Given the description of an element on the screen output the (x, y) to click on. 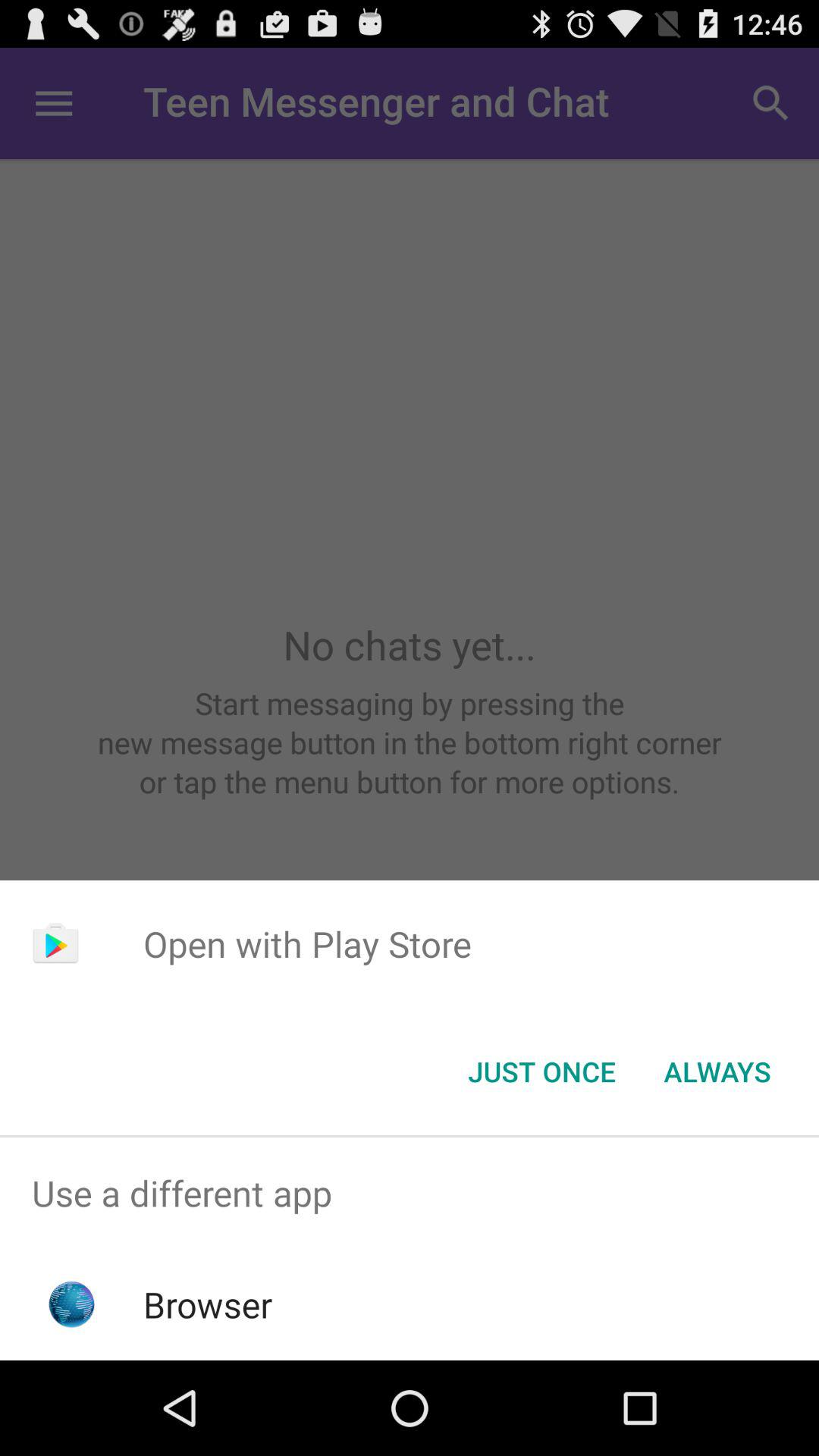
select use a different (409, 1192)
